Given the description of an element on the screen output the (x, y) to click on. 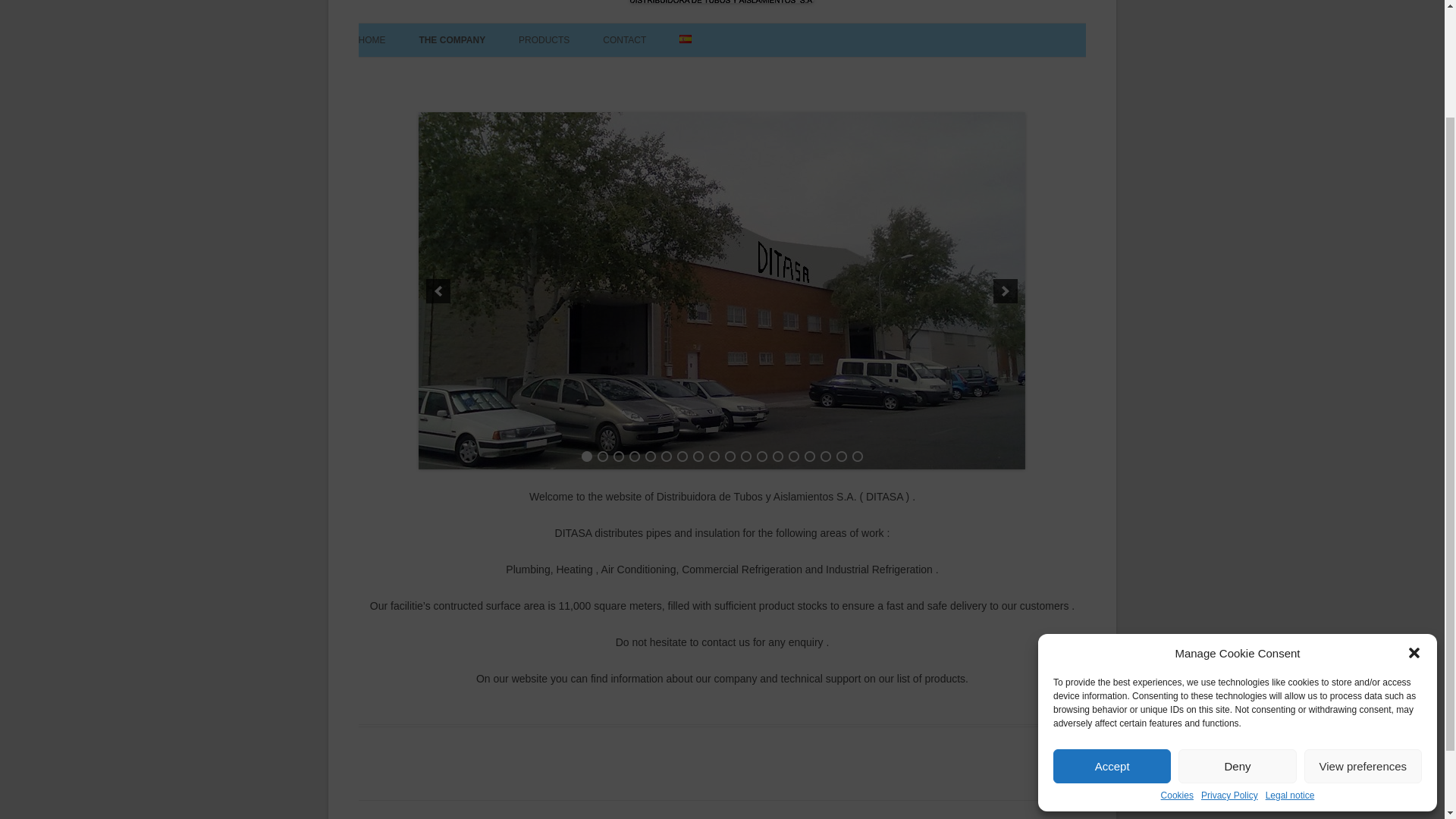
Cookies (1176, 656)
THE COMPANY (451, 39)
View preferences (1363, 627)
Deny (1236, 627)
Ditasa (751, 75)
Accept (1111, 627)
PRODUCTS (543, 39)
Legal notice (1289, 656)
Privacy Policy (1229, 656)
CONTACT (624, 39)
